Given the description of an element on the screen output the (x, y) to click on. 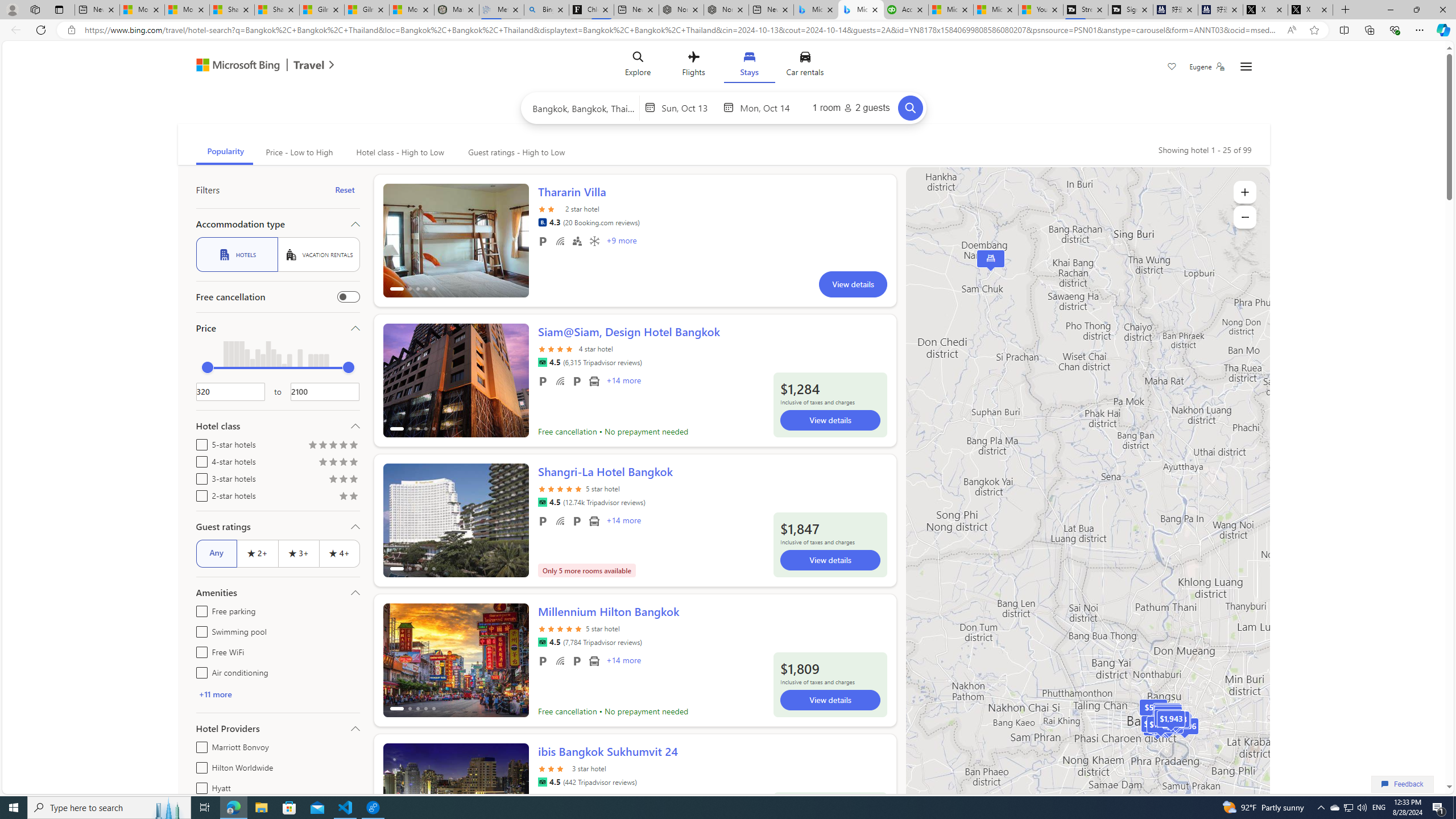
Travel (308, 65)
End date (767, 107)
3+ (298, 553)
AutomationID: TextField877 (325, 391)
HOTELS (236, 254)
Free cancellation (347, 296)
X (1310, 9)
Microsoft Start (995, 9)
Marriott Bonvoy (199, 745)
Popularity (224, 152)
Shanghai, China weather forecast | Microsoft Weather (276, 9)
Free WiFi (199, 650)
Stays (748, 65)
Microsoft Bing (232, 65)
